Given the description of an element on the screen output the (x, y) to click on. 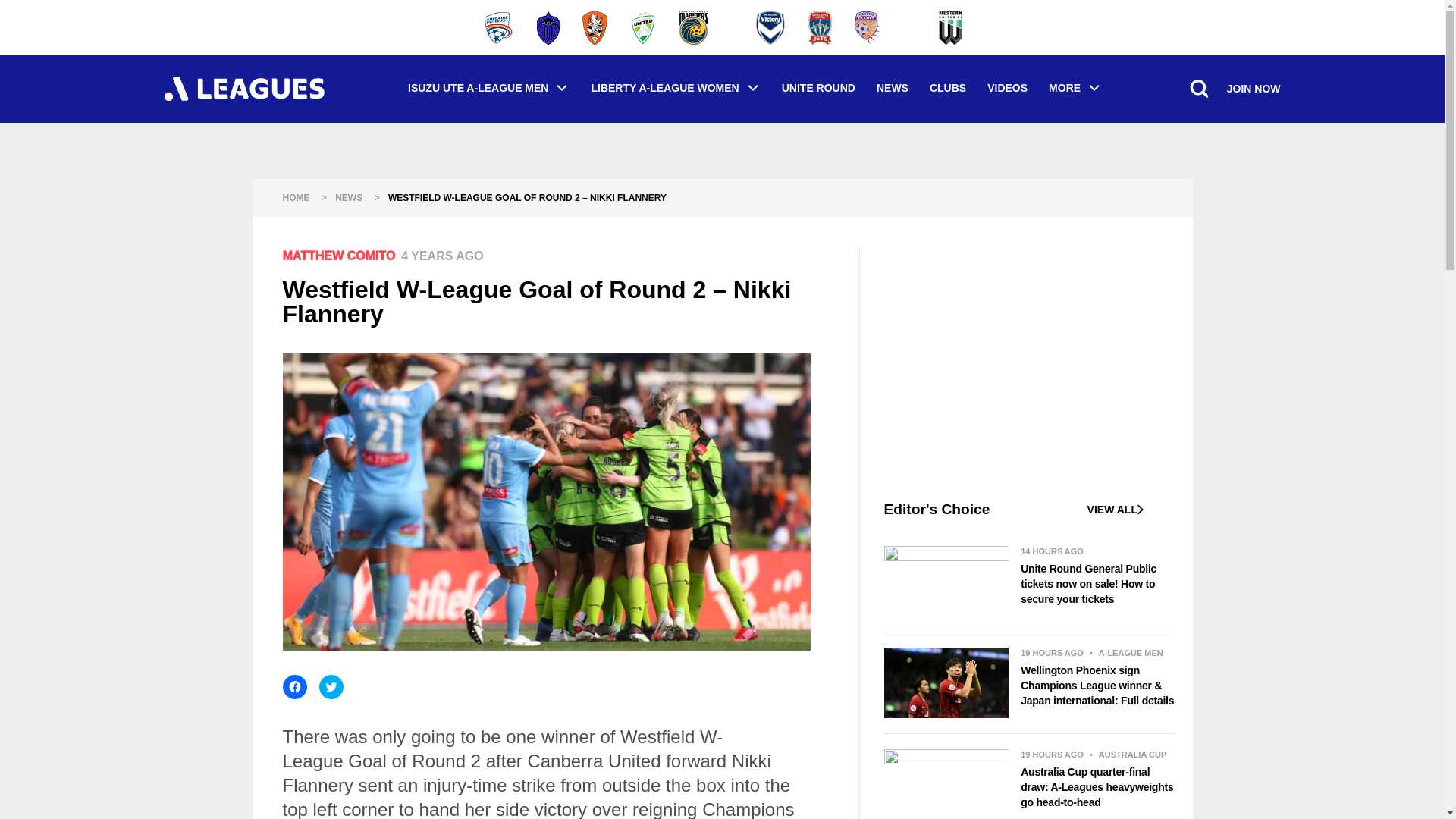
Click to share on Facebook (293, 686)
LIBERTY A-LEAGUE WOMEN (674, 87)
Click to share on Twitter (330, 686)
ISUZU UTE A-LEAGUE MEN (488, 87)
